Given the description of an element on the screen output the (x, y) to click on. 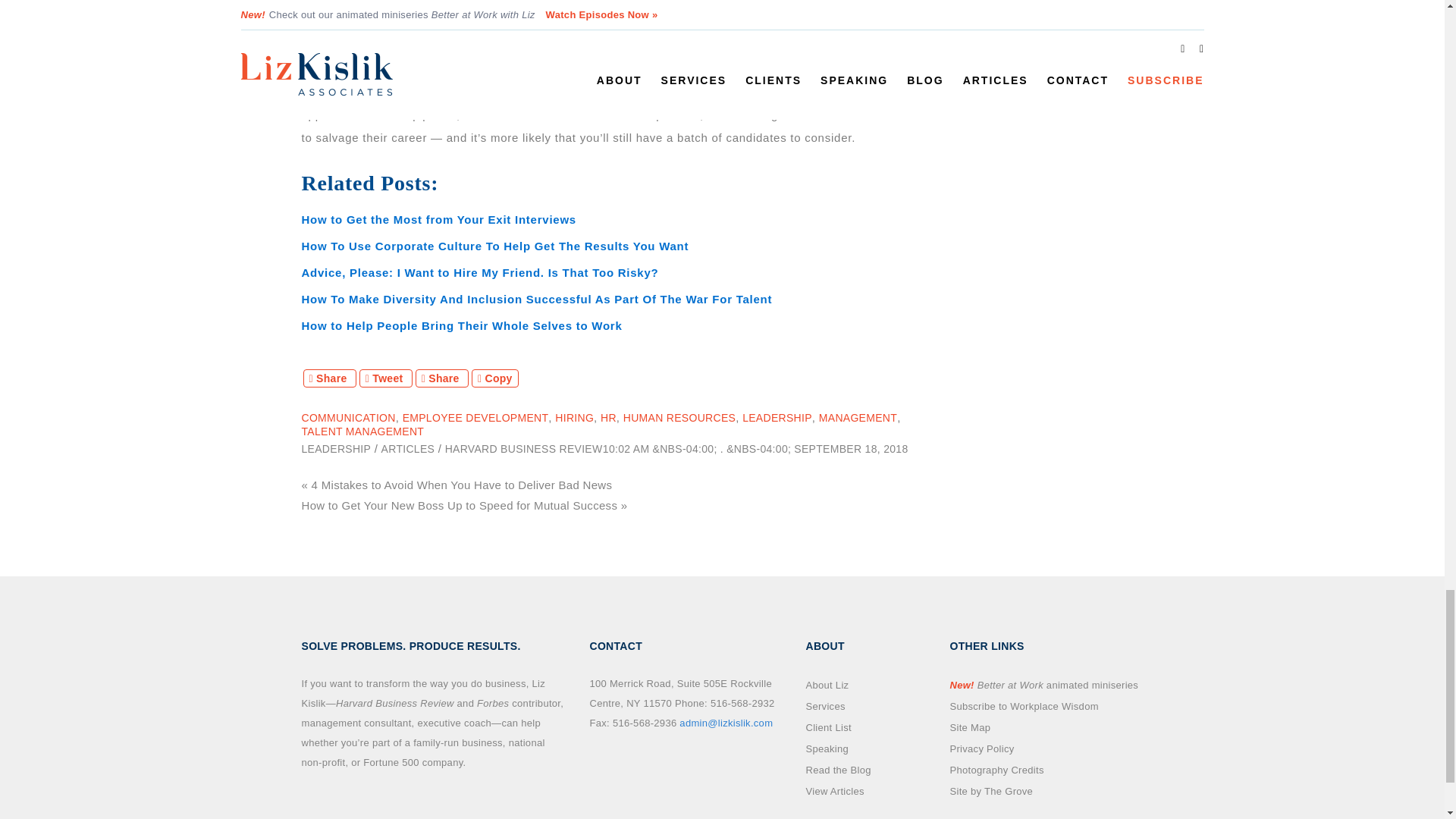
Tweet (385, 378)
Advice, Please: I Want to Hire My Friend. Is That Too Risky? (480, 272)
Copy (494, 378)
learn what you can (691, 46)
Advice, Please: I Want to Hire My Friend. Is That Too Risky? (480, 272)
Share (329, 378)
How to Get the Most from Your Exit Interviews (438, 219)
